Given the description of an element on the screen output the (x, y) to click on. 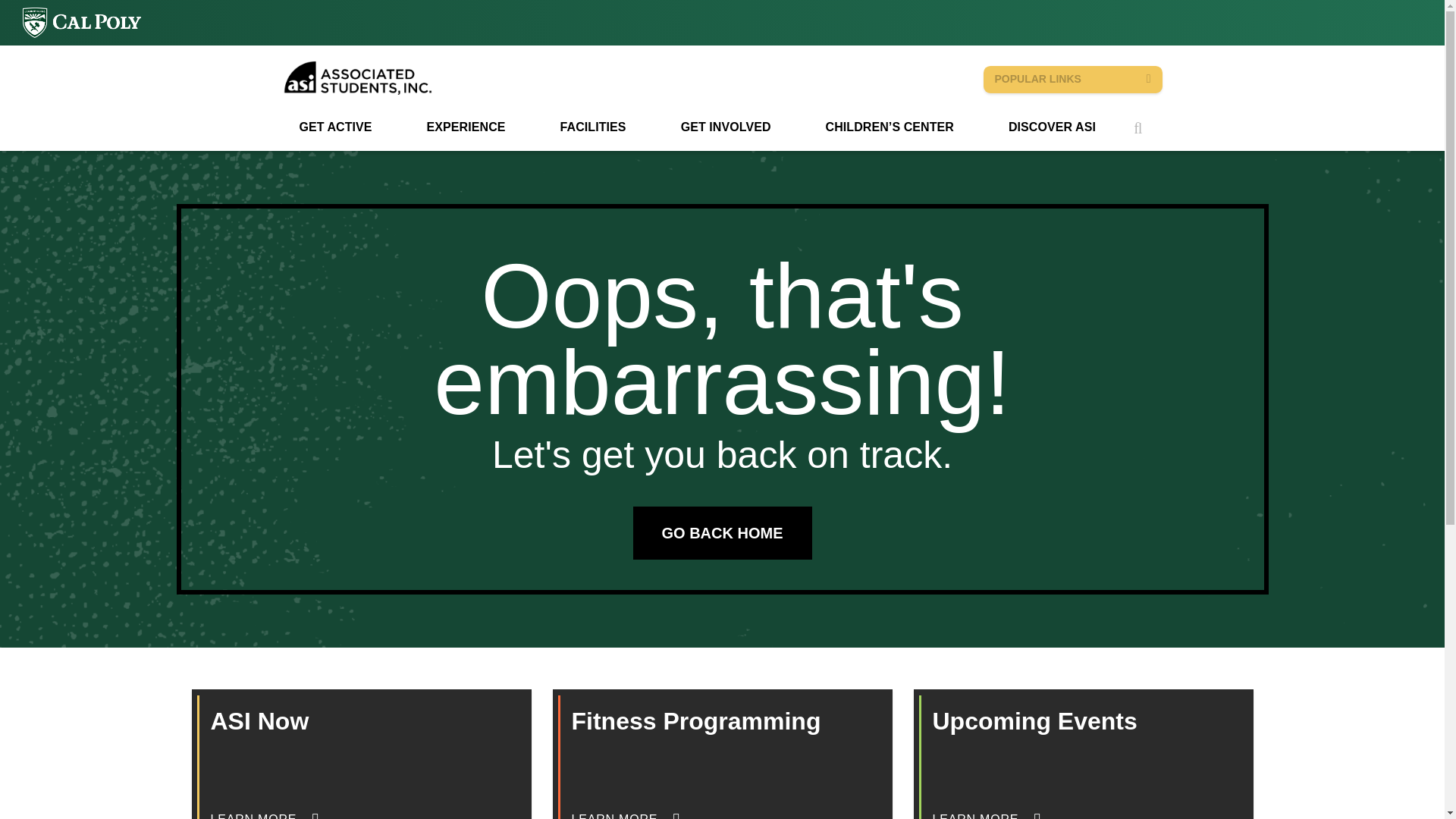
POPULAR LINKS (1071, 79)
ASI Cal Poly (358, 79)
EXPERIENCE (465, 129)
GET ACTIVE (334, 129)
